Given the description of an element on the screen output the (x, y) to click on. 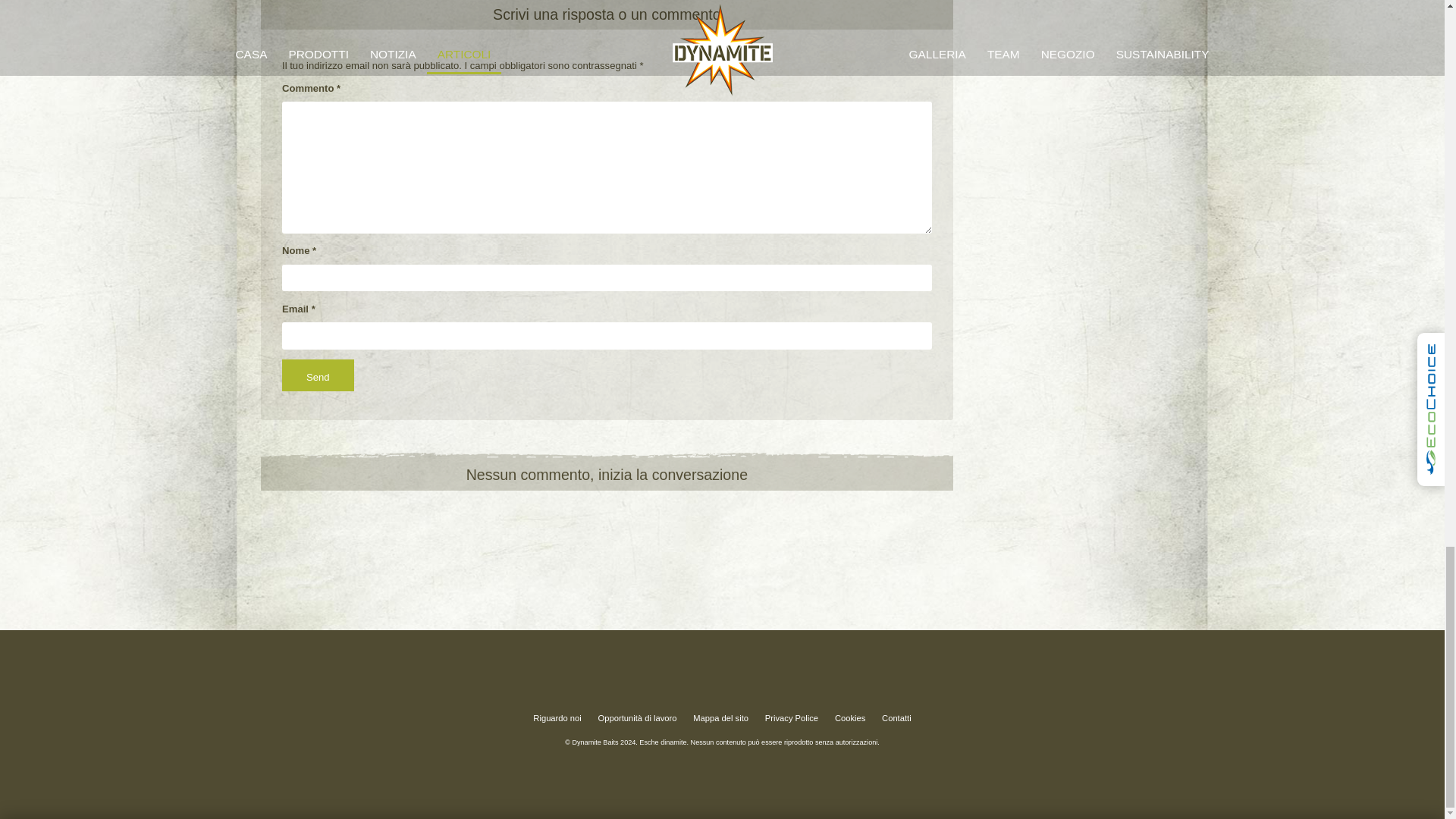
Send (317, 375)
Send (317, 375)
